Given the description of an element on the screen output the (x, y) to click on. 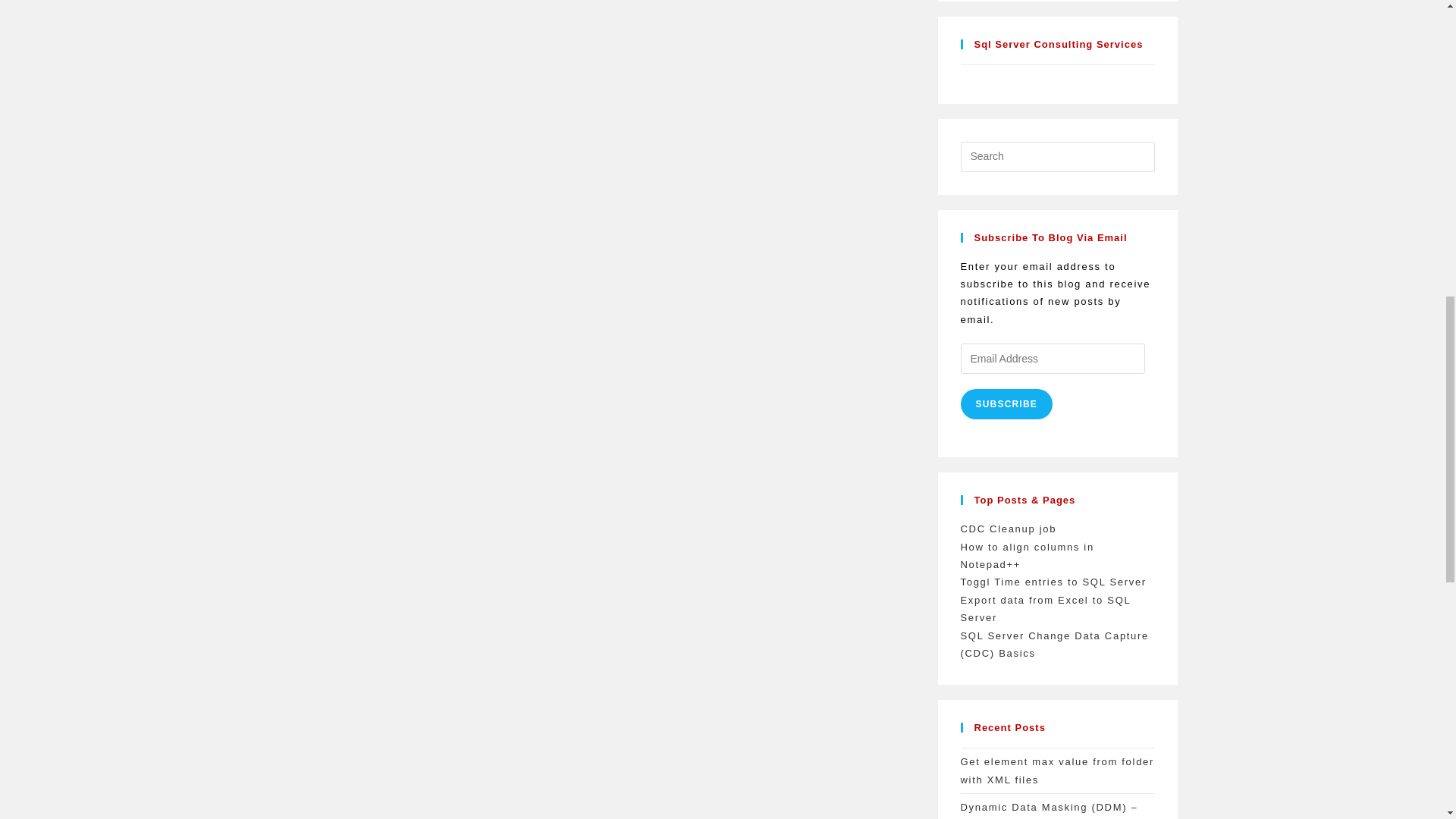
CDC Cleanup job (1008, 528)
SUBSCRIBE (1005, 404)
